Given the description of an element on the screen output the (x, y) to click on. 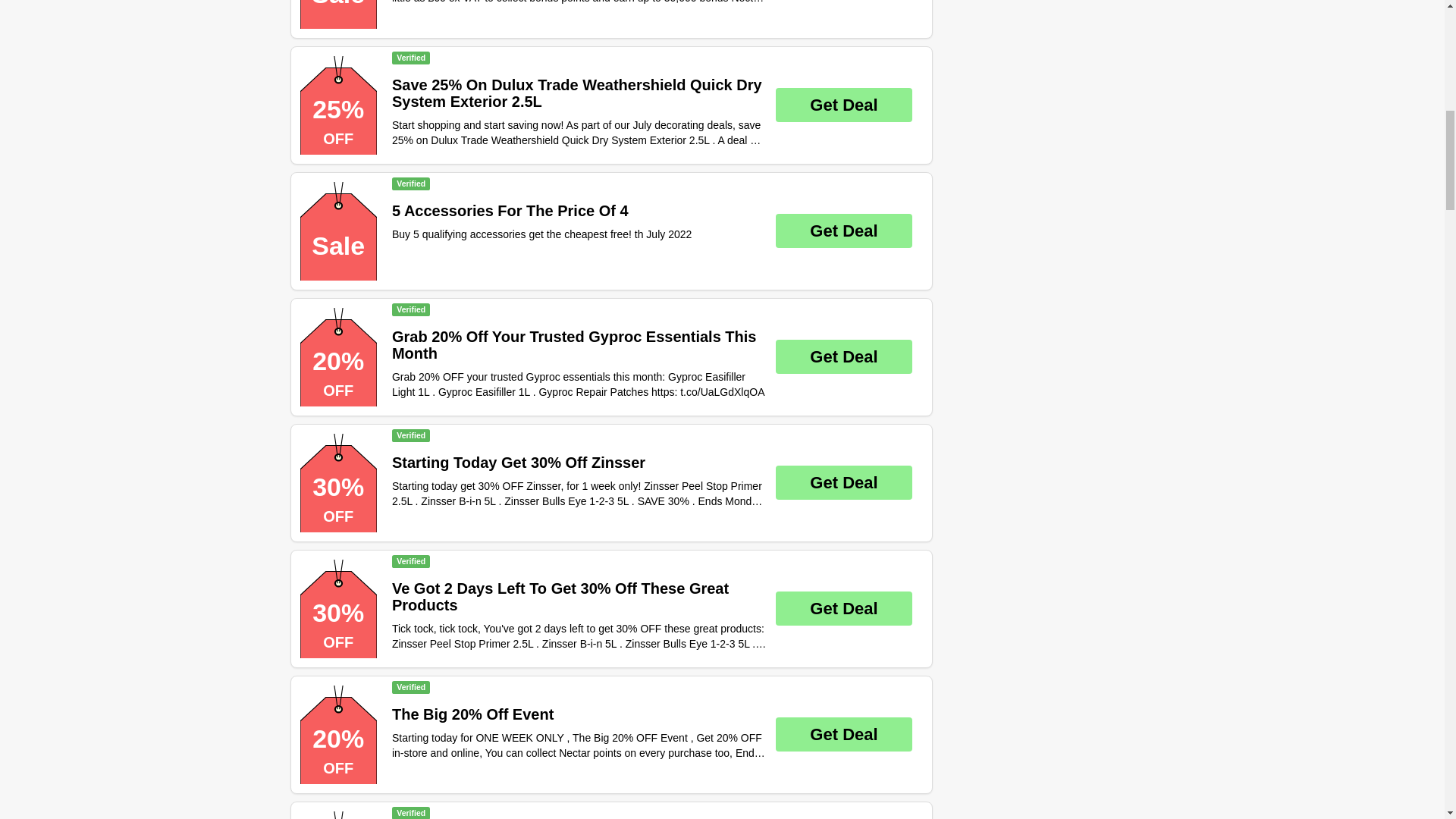
Get Deal (844, 734)
Get Deal (844, 482)
Get Deal (844, 104)
Get Deal (844, 608)
Sale (338, 14)
Get Deal (844, 230)
Get Deal (844, 356)
